Given the description of an element on the screen output the (x, y) to click on. 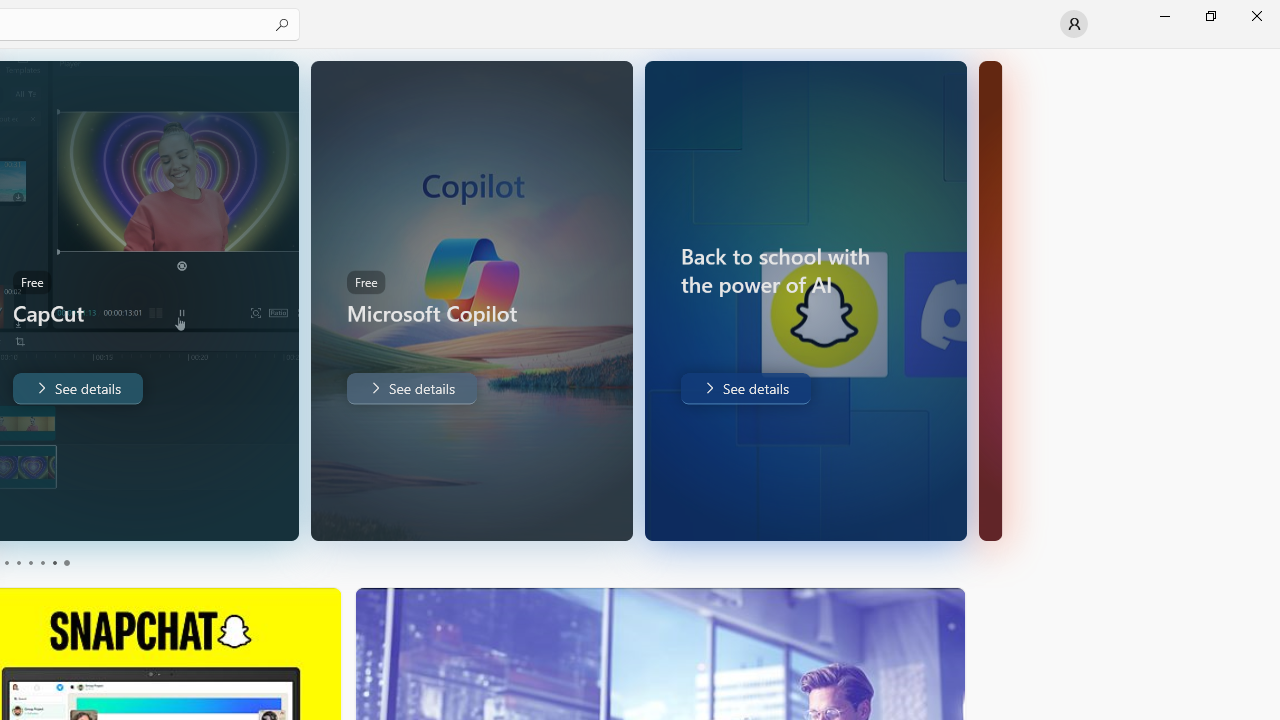
Page 5 (54, 562)
Page 2 (17, 562)
Pager (35, 562)
Minimize Microsoft Store (1164, 15)
Close Microsoft Store (1256, 15)
Page 1 (5, 562)
Page 4 (41, 562)
User profile (1073, 24)
Page 3 (29, 562)
Unmute (269, 512)
Page 6 (65, 562)
AutomationID: Image (989, 300)
Restore Microsoft Store (1210, 15)
